Given the description of an element on the screen output the (x, y) to click on. 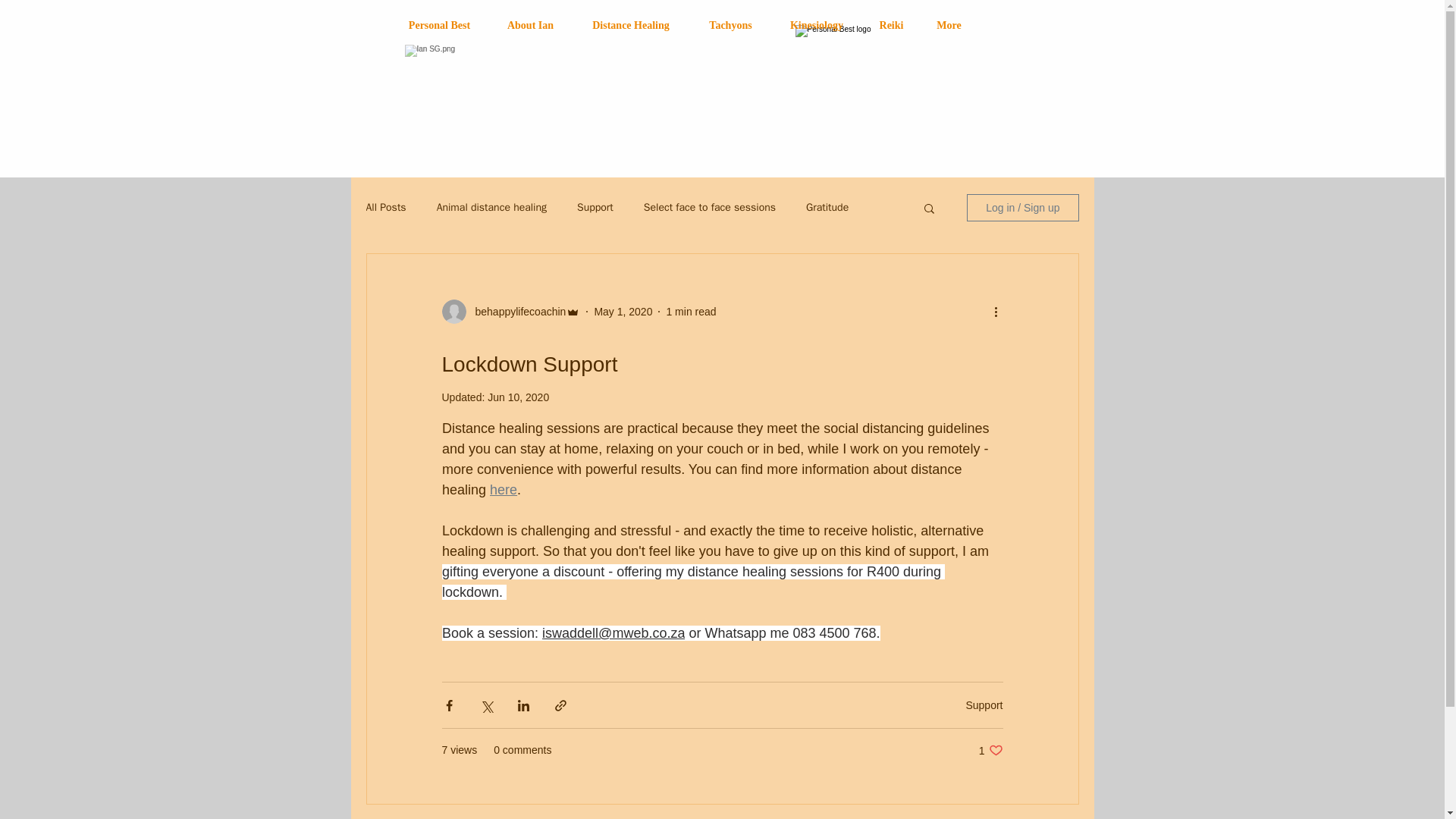
PERSONAL BEST BUSINESS CARD FRONT.jpg (943, 93)
Select face to face sessions (709, 207)
Personal Best (439, 25)
May 1, 2020 (623, 310)
Reiki (891, 25)
About Ian (530, 25)
Tachyons (730, 25)
Kinesiology (815, 25)
All Posts (385, 207)
Support (984, 705)
